Given the description of an element on the screen output the (x, y) to click on. 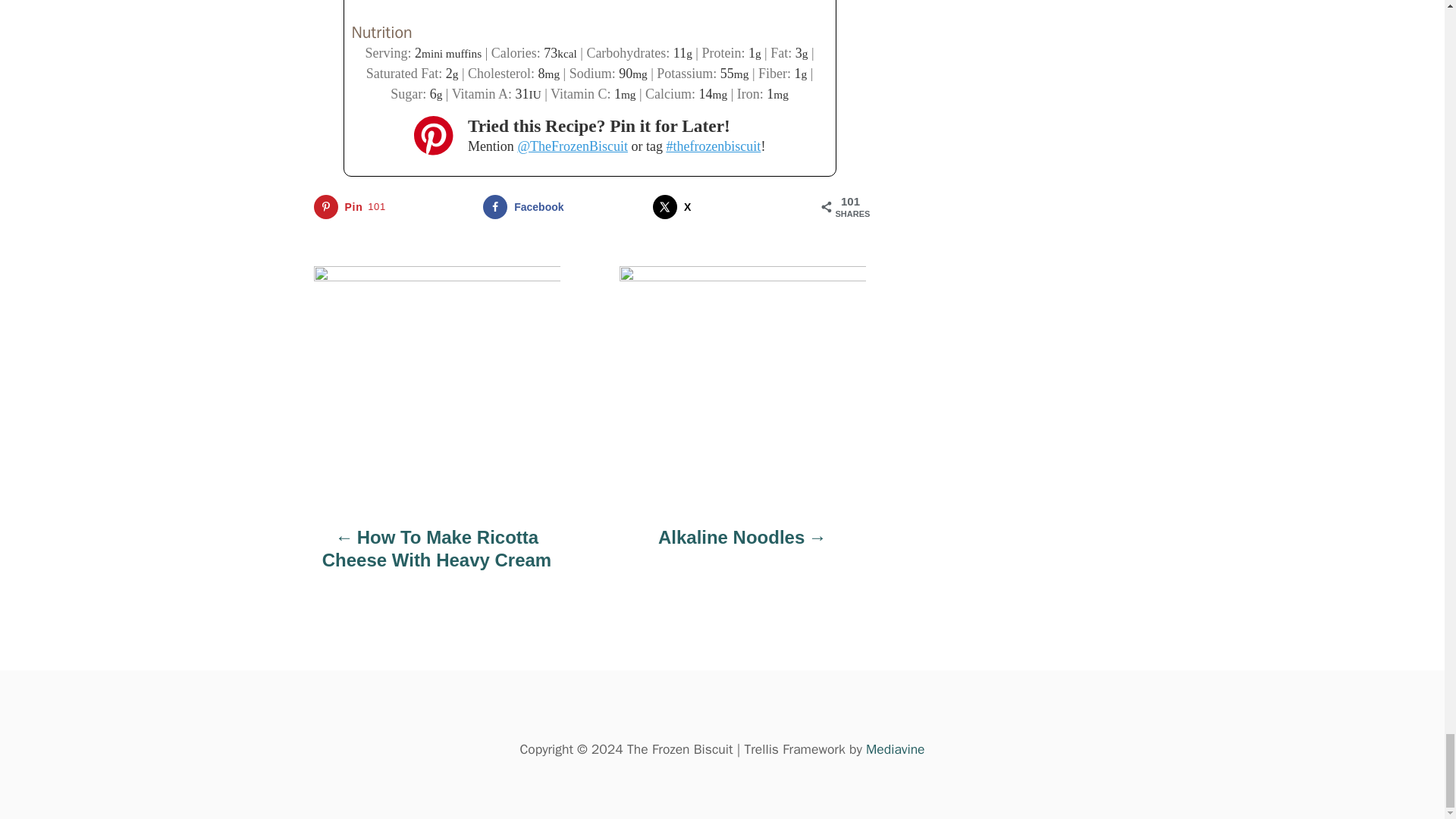
Share on Facebook (394, 206)
How To Make Ricotta Cheese With Heavy Cream (563, 206)
Alkaline Noodles (437, 556)
X (741, 545)
Save to Pinterest (732, 206)
Facebook (394, 206)
